Given the description of an element on the screen output the (x, y) to click on. 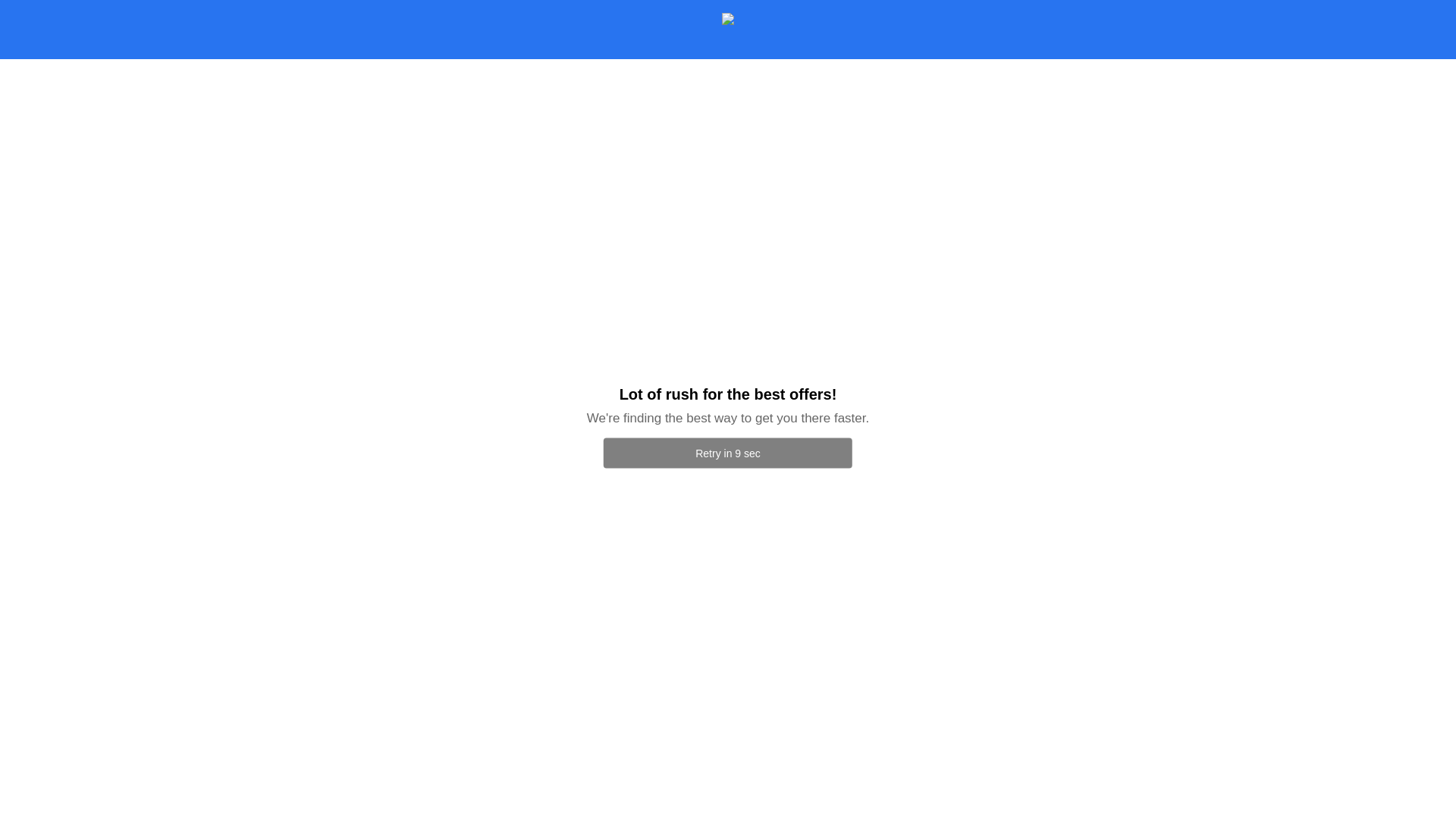
Retry in 9 sec (727, 453)
